Given the description of an element on the screen output the (x, y) to click on. 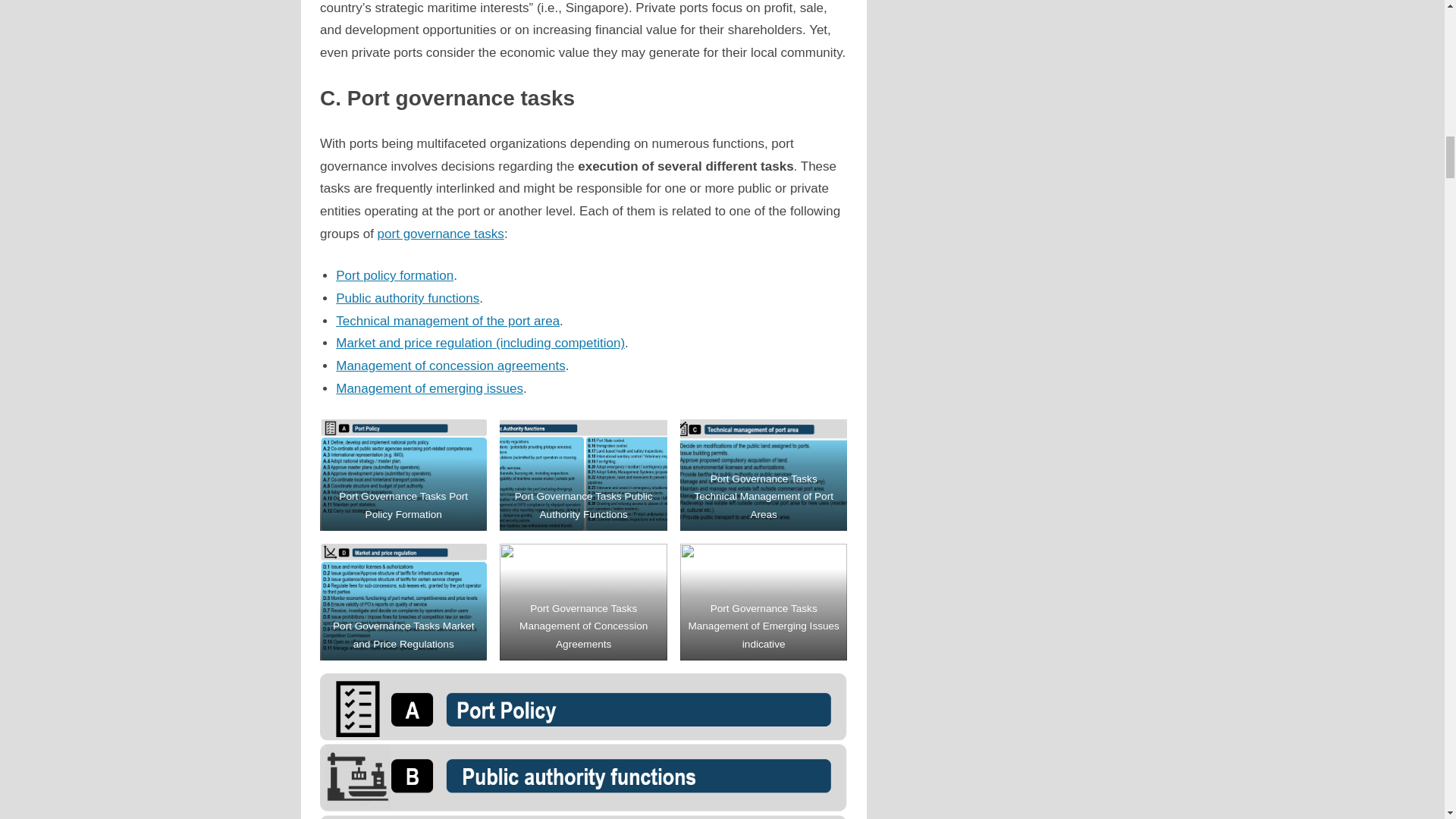
Public authority functions (407, 298)
Management of emerging issues (429, 388)
port governance tasks (440, 233)
Port policy formation (394, 275)
Technical management of the port area (447, 320)
Management of concession agreements (450, 365)
